Given the description of an element on the screen output the (x, y) to click on. 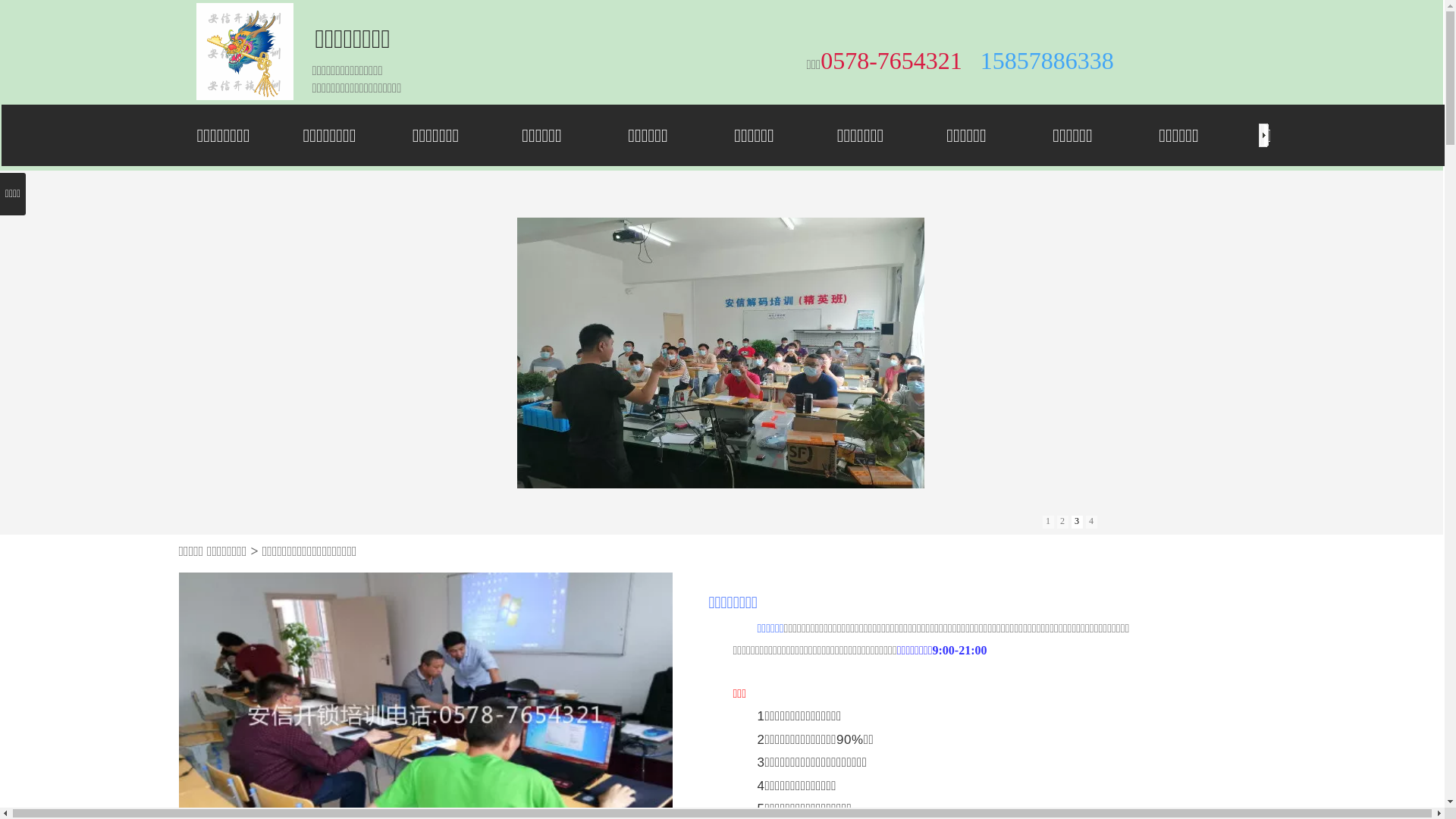
fkkb07 Element type: hover (245, 51)
